Given the description of an element on the screen output the (x, y) to click on. 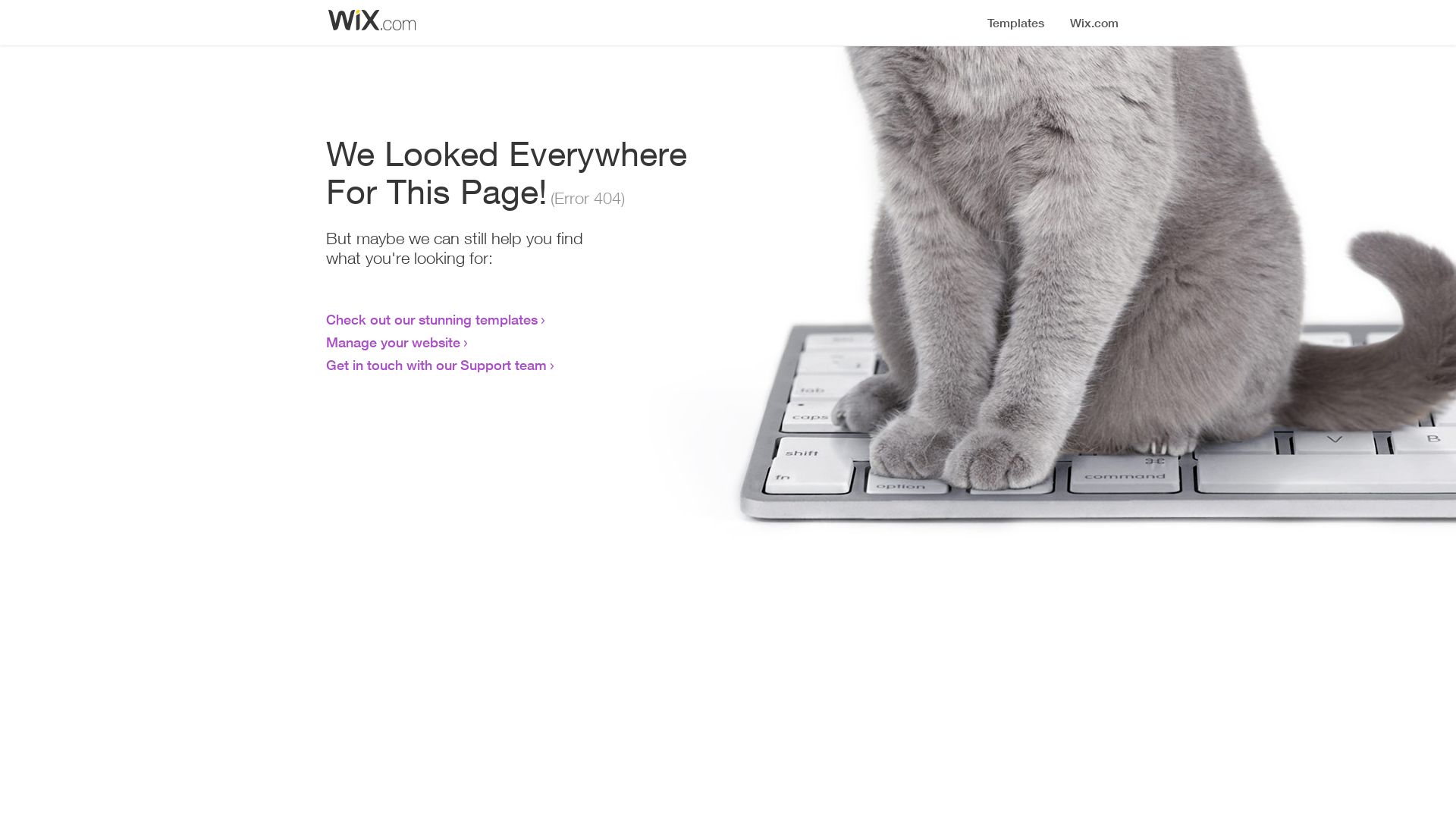
Manage your website Element type: text (393, 341)
Check out our stunning templates Element type: text (431, 318)
Get in touch with our Support team Element type: text (436, 364)
